Given the description of an element on the screen output the (x, y) to click on. 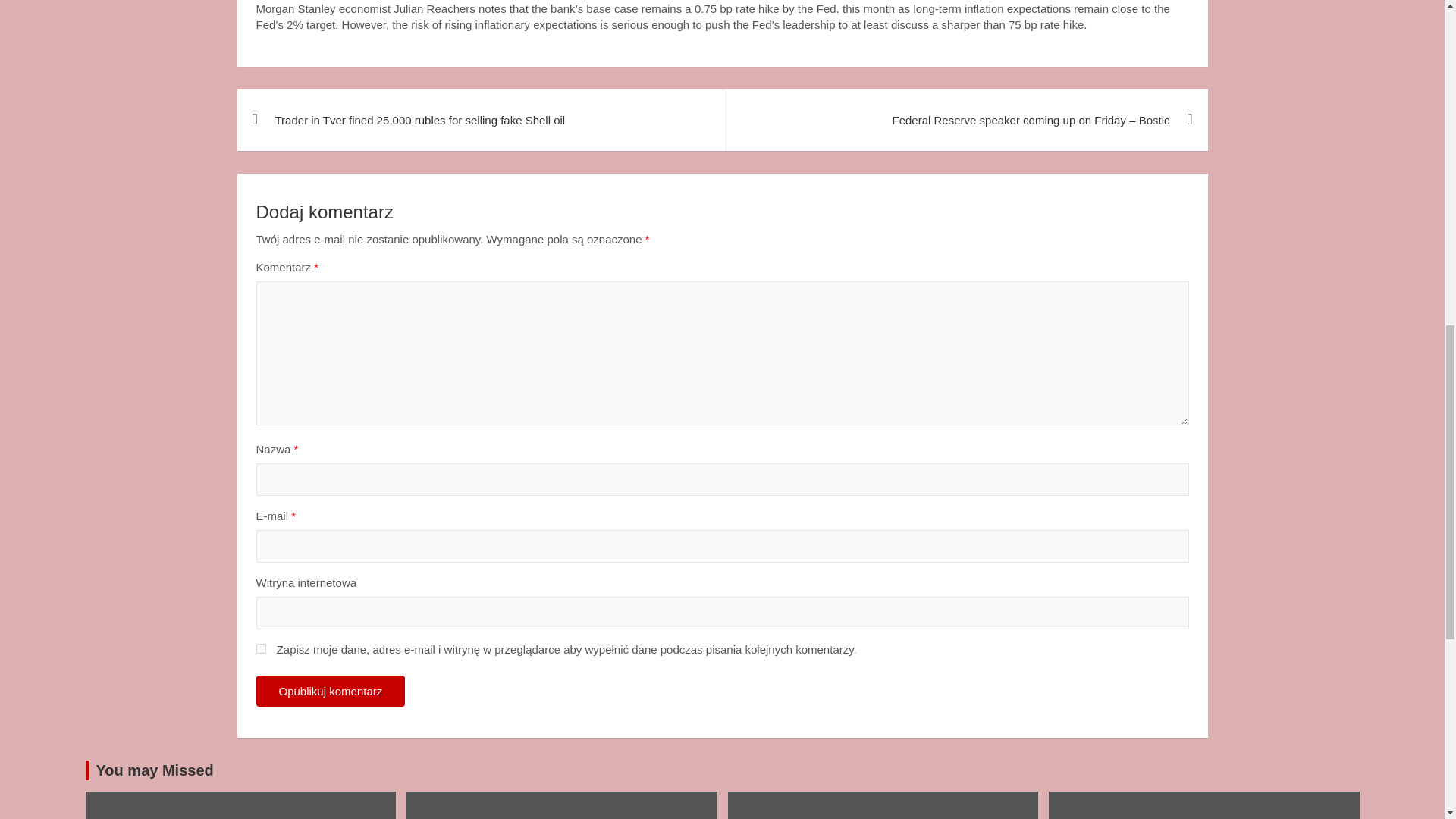
Opublikuj komentarz (331, 690)
You may Missed (154, 770)
yes (261, 648)
Opublikuj komentarz (331, 690)
